Given the description of an element on the screen output the (x, y) to click on. 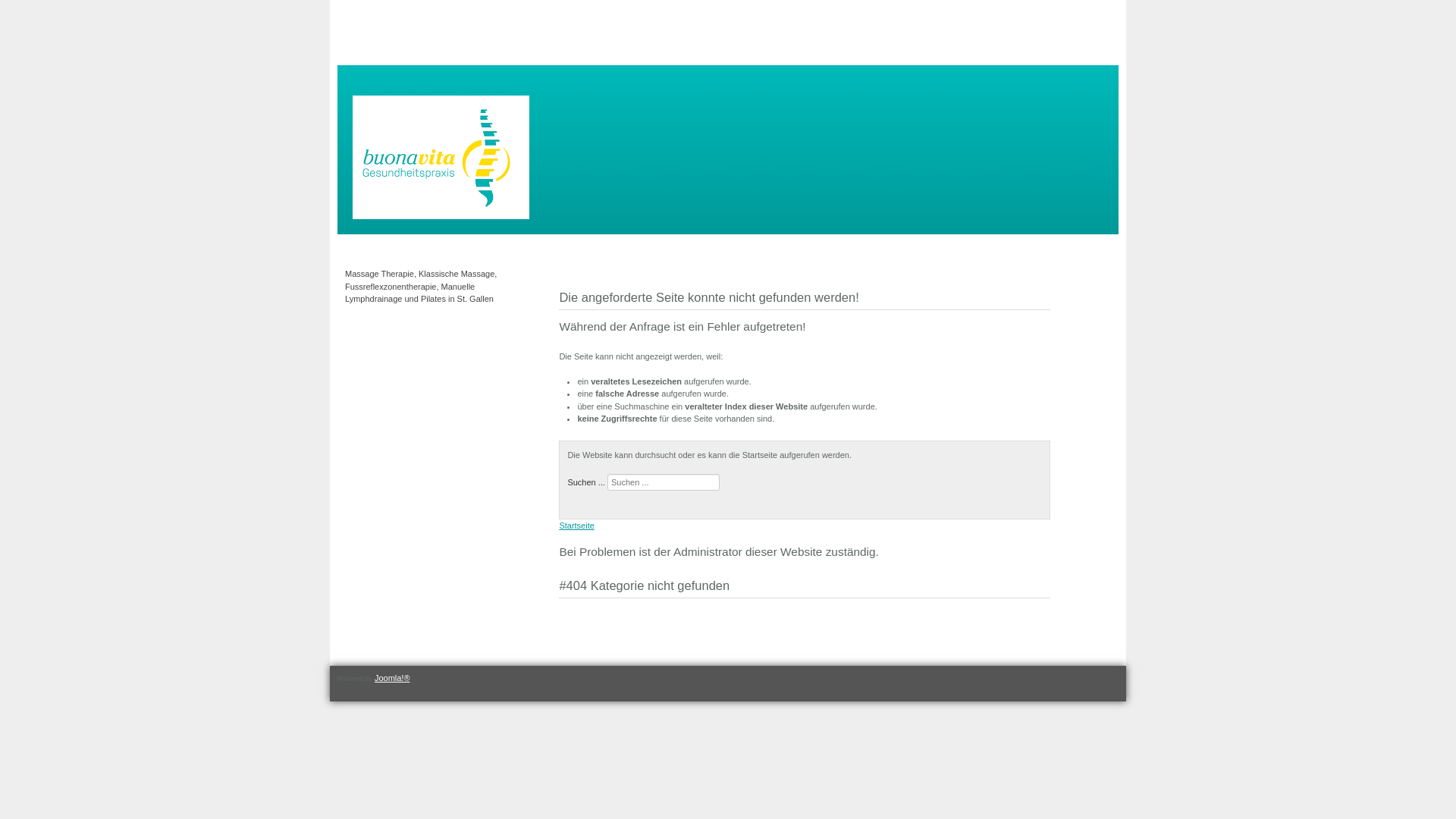
Startseite Element type: text (575, 525)
